Given the description of an element on the screen output the (x, y) to click on. 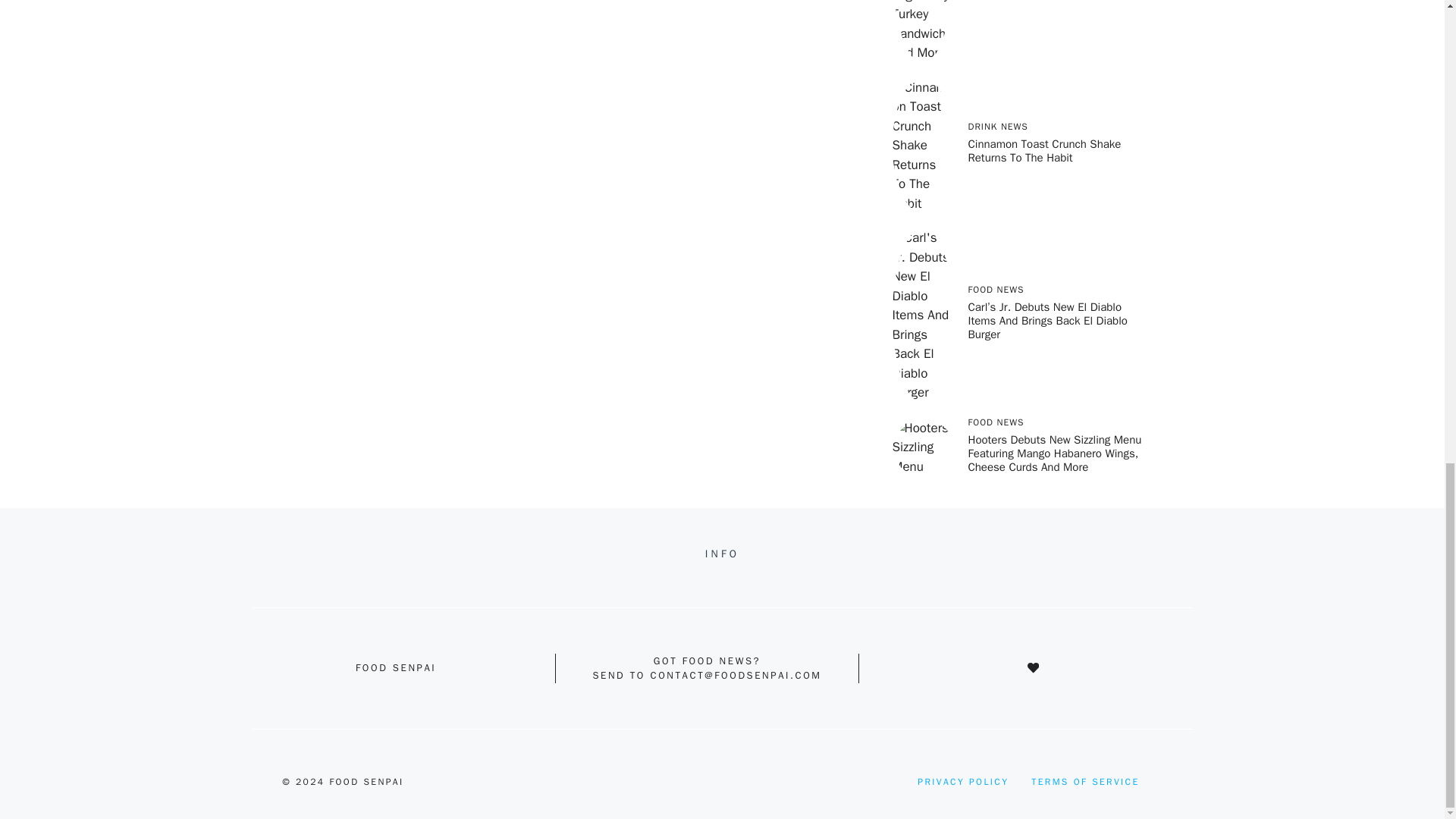
TERMS OF SERVICE (1084, 781)
Cinnamon Toast Crunch Shake Returns To The Habit (1044, 150)
PRIVACY POLICY (963, 781)
